Given the description of an element on the screen output the (x, y) to click on. 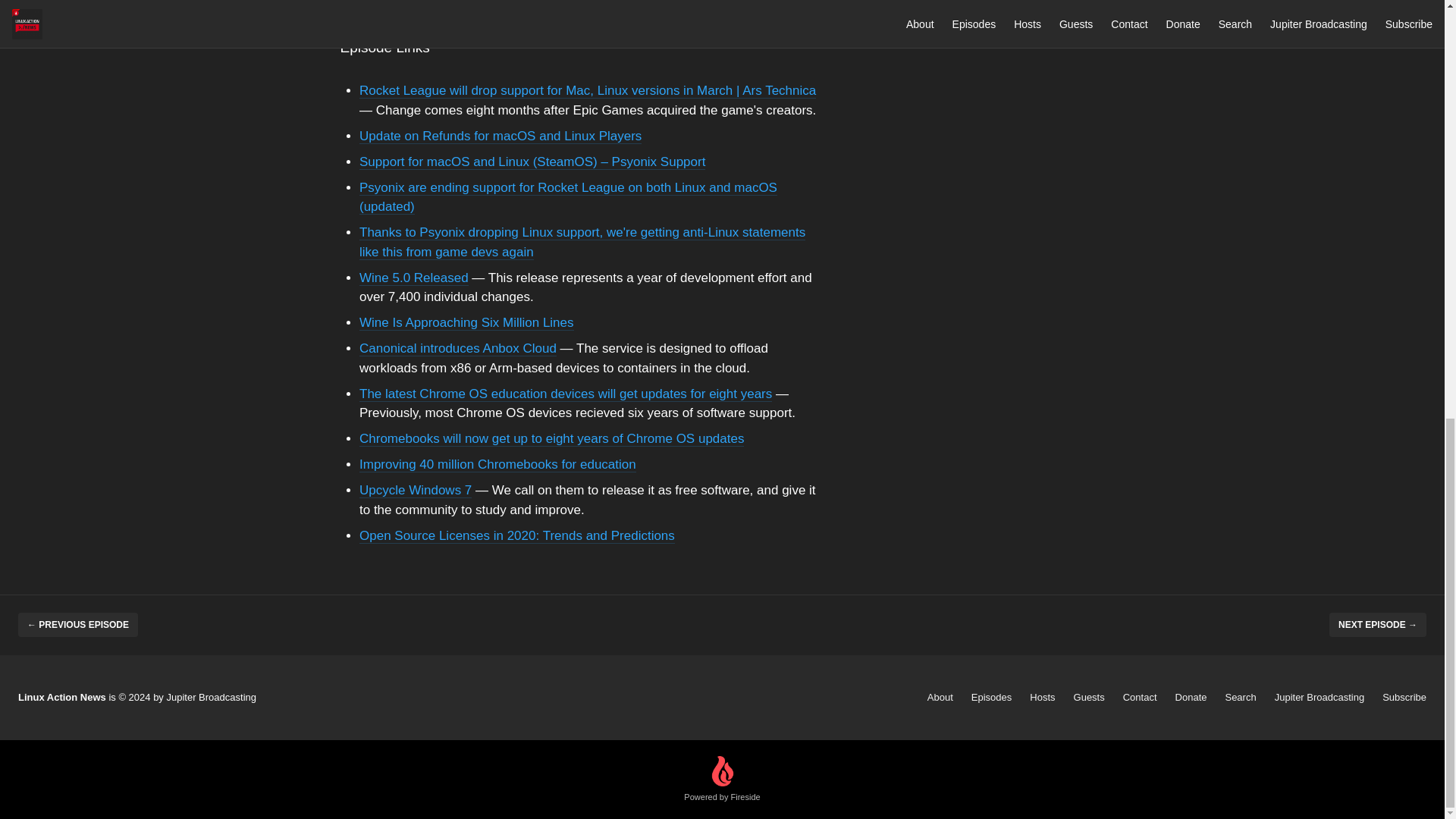
Open Source Licenses in 2020: Trends and Predictions (517, 534)
Powered by Fireside (722, 779)
Upcycle Windows 7 (415, 490)
Wine Is Approaching Six Million Lines (466, 322)
Update on Refunds for macOS and Linux Players (500, 135)
Wine 5.0 Released (413, 277)
Canonical introduces Anbox Cloud (457, 348)
Improving 40 million Chromebooks for education (497, 464)
